Given the description of an element on the screen output the (x, y) to click on. 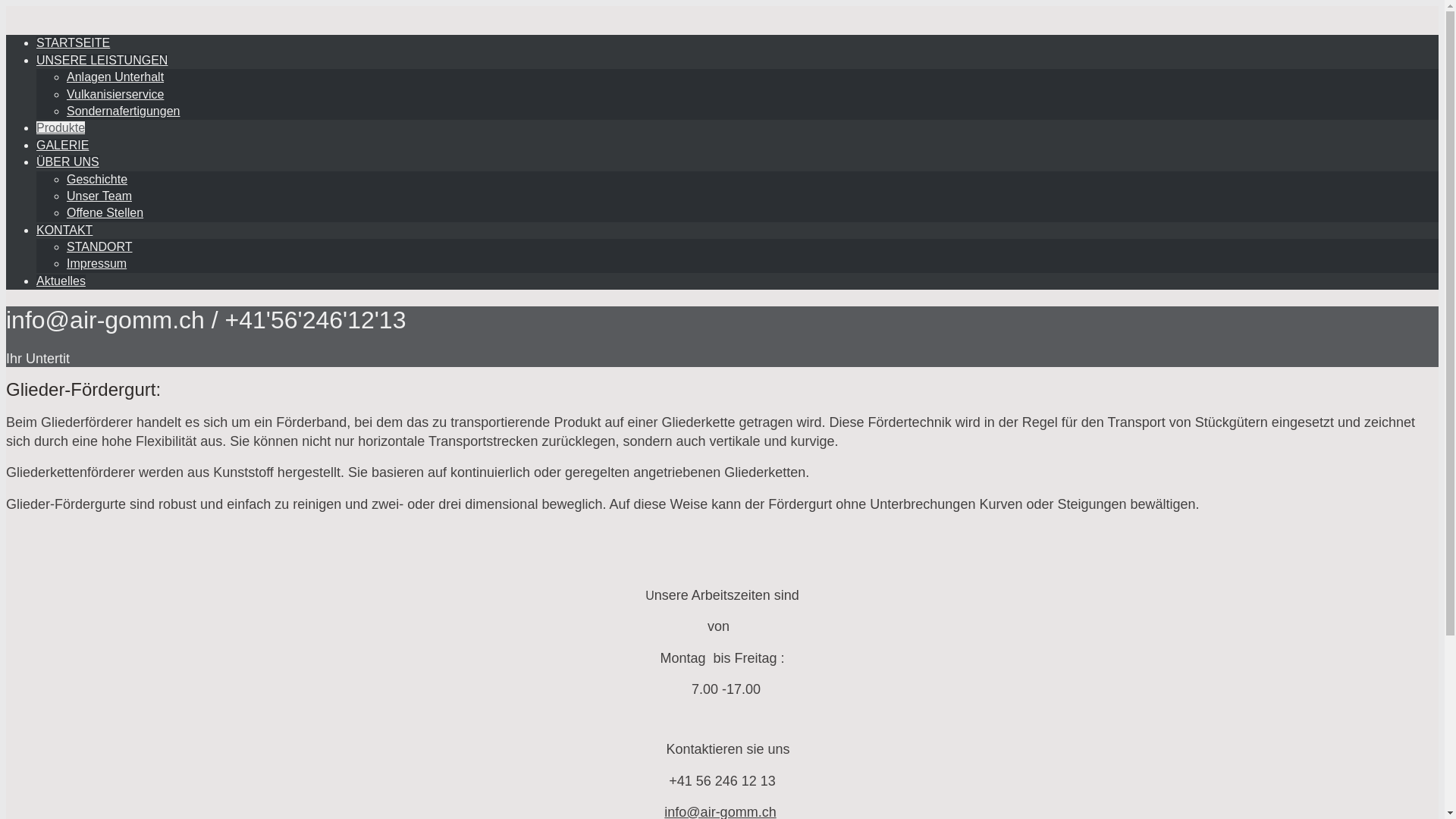
KONTAKT Element type: text (64, 229)
Produkte Element type: text (60, 127)
GALERIE Element type: text (62, 144)
Geschichte Element type: text (96, 178)
Unser Team Element type: text (98, 195)
Impressum Element type: text (96, 263)
STANDORT Element type: text (99, 246)
Aktuelles Element type: text (60, 280)
STARTSEITE Element type: text (72, 42)
Offene Stellen Element type: text (104, 212)
UNSERE LEISTUNGEN Element type: text (101, 59)
Sondernafertigungen Element type: text (122, 110)
Anlagen Unterhalt Element type: text (114, 76)
Vulkanisierservice Element type: text (114, 93)
